Given the description of an element on the screen output the (x, y) to click on. 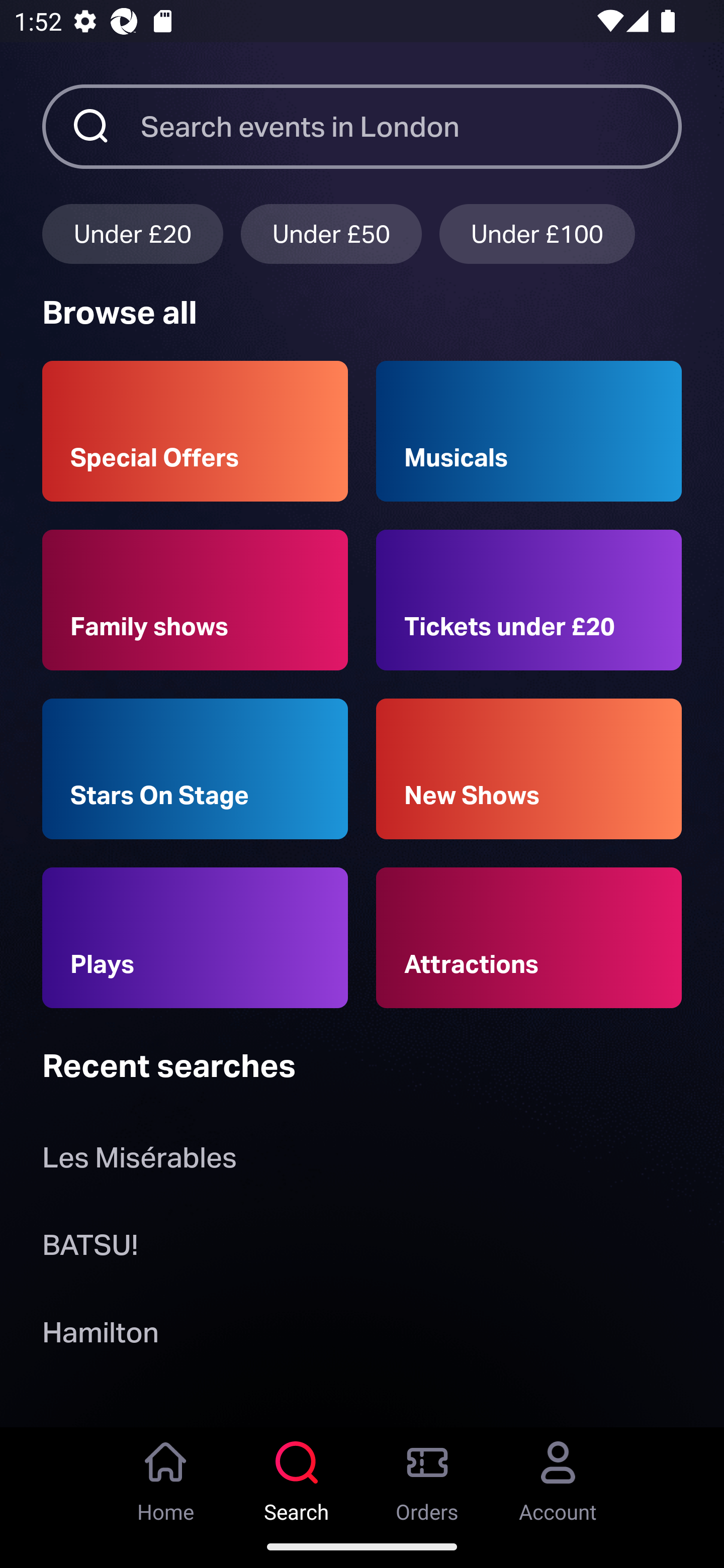
Search events in London (411, 126)
Under £20 (131, 233)
Under £50 (331, 233)
Under £100 (536, 233)
Special Offers (194, 430)
Musicals (528, 430)
Family shows (194, 600)
Tickets under £20  (528, 600)
Stars On Stage (194, 768)
New Shows (528, 768)
Plays (194, 937)
Attractions  (528, 937)
Les Misérables (138, 1161)
BATSU! (89, 1248)
Hamilton (99, 1335)
Home (165, 1475)
Orders (427, 1475)
Account (558, 1475)
